Given the description of an element on the screen output the (x, y) to click on. 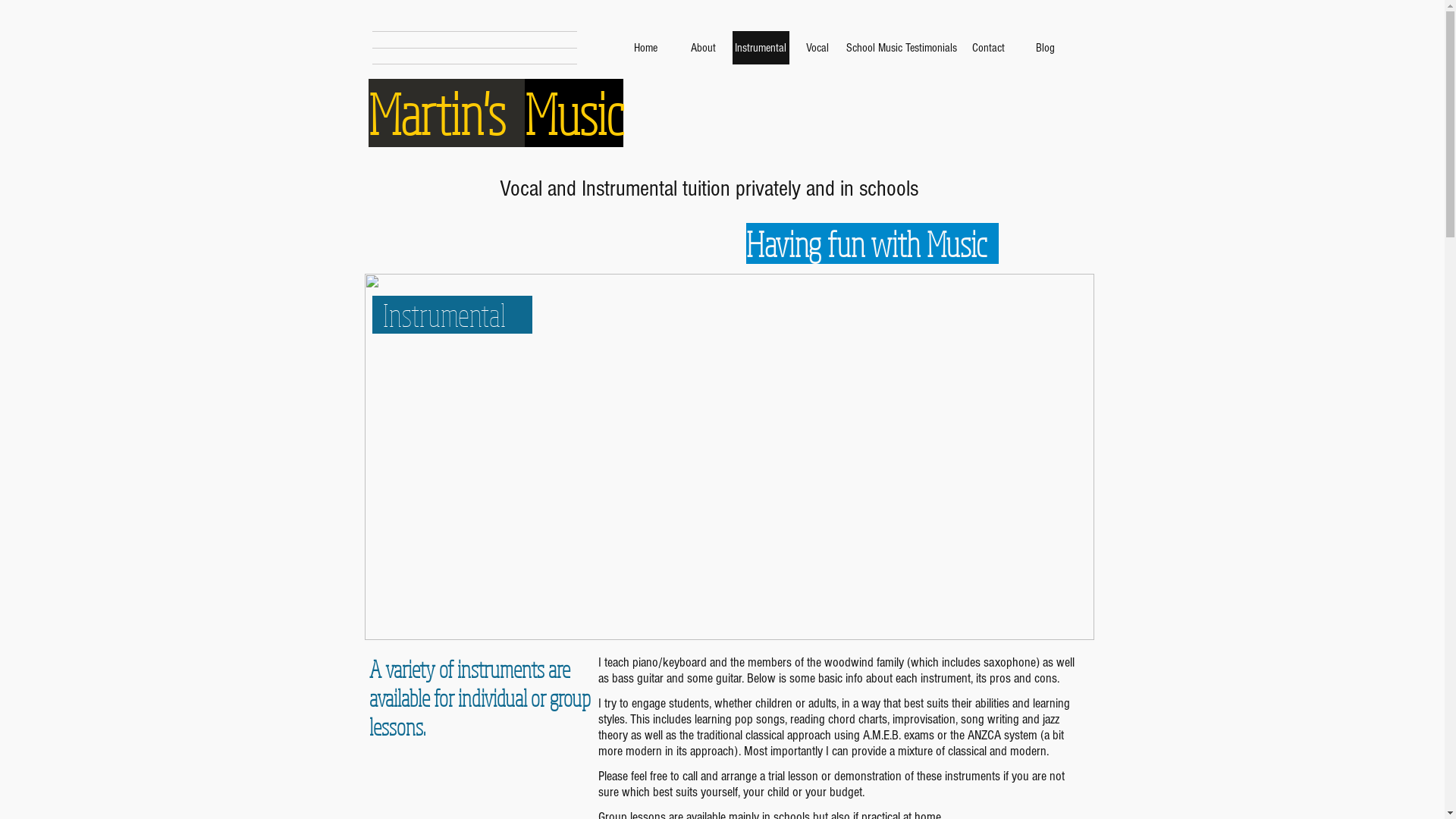
Blog Element type: text (1044, 47)
Vocal Element type: text (816, 47)
Testimonials Element type: text (930, 47)
Contact Element type: text (988, 47)
Home Element type: text (645, 47)
Instrumental Element type: text (760, 47)
Instruments 4s.jpg Element type: hover (728, 456)
School Music Element type: text (874, 47)
About Element type: text (703, 47)
